Given the description of an element on the screen output the (x, y) to click on. 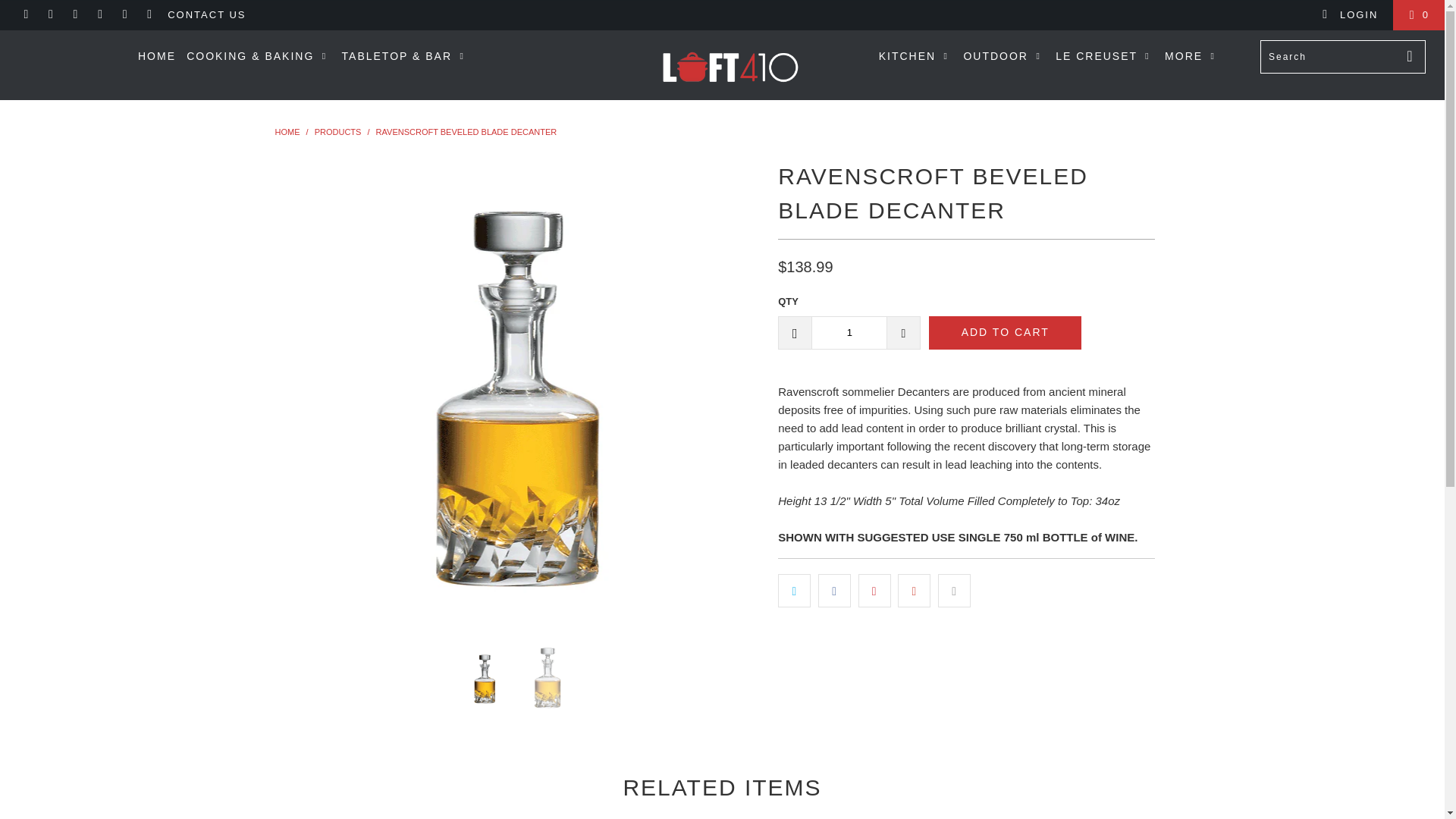
Products (339, 131)
Share this on Facebook (834, 590)
Loft410 (287, 131)
Share this on Twitter (793, 590)
Share this on Pinterest (875, 590)
Loft410 on Houzz (148, 14)
Loft410 on Twitter (25, 14)
1 (848, 332)
Loft410 (729, 64)
Loft410 on Pinterest (99, 14)
